Given the description of an element on the screen output the (x, y) to click on. 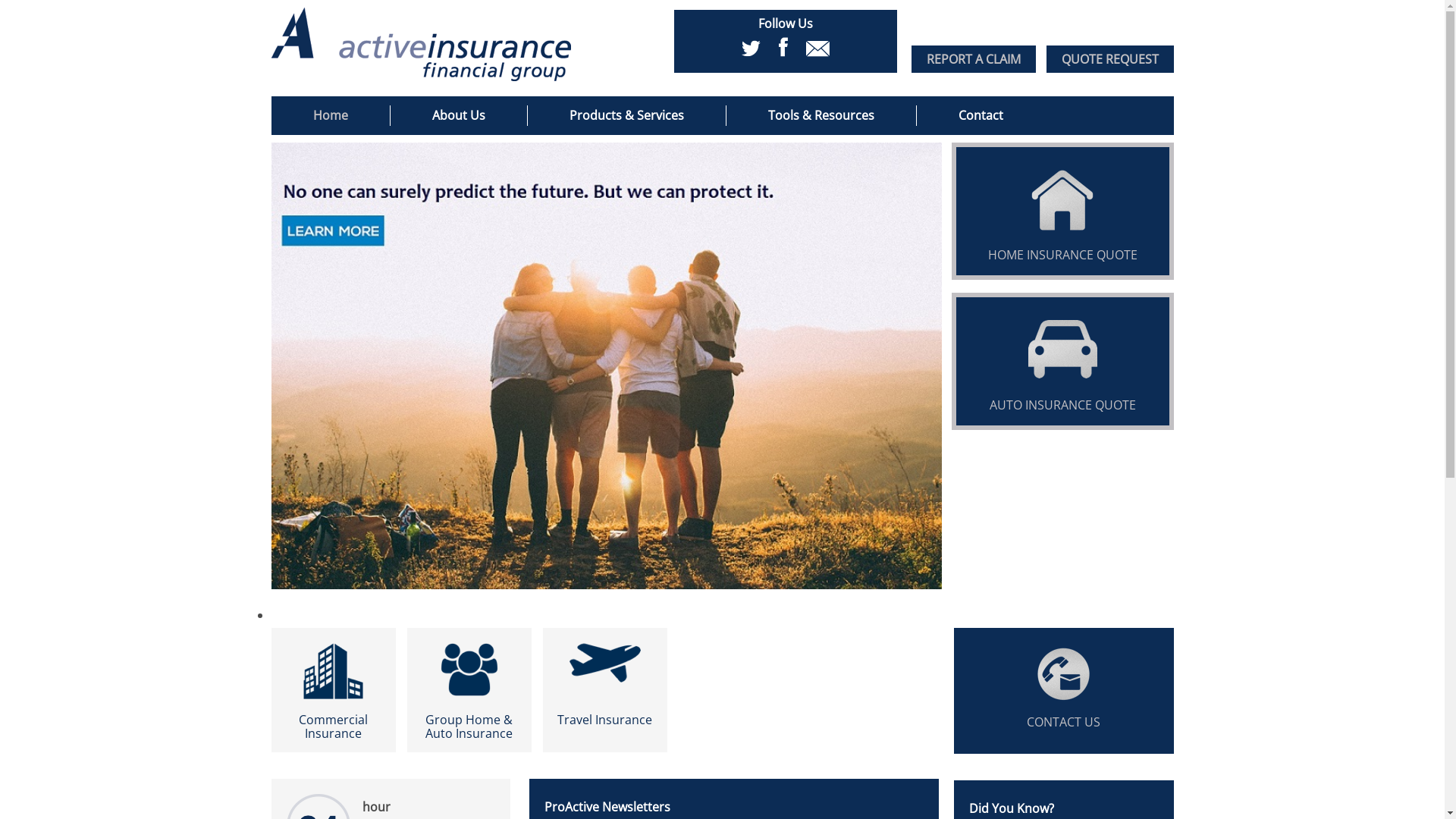
Home Element type: text (330, 115)
About Us Element type: text (458, 115)
REPORT A CLAIM Element type: text (973, 58)
QUOTE REQUEST Element type: text (1109, 58)
Tools & Resources Element type: text (821, 115)
Products & Services Element type: text (626, 115)
CONTACT US Element type: text (1063, 690)
Commercial Insurance Element type: text (333, 689)
AUTO INSURANCE QUOTE Element type: text (1061, 349)
Contact Element type: text (980, 115)
Travel Insurance Element type: text (604, 689)
HOME INSURANCE QUOTE Element type: text (1061, 200)
Group Home & Auto Insurance Element type: text (468, 689)
